Given the description of an element on the screen output the (x, y) to click on. 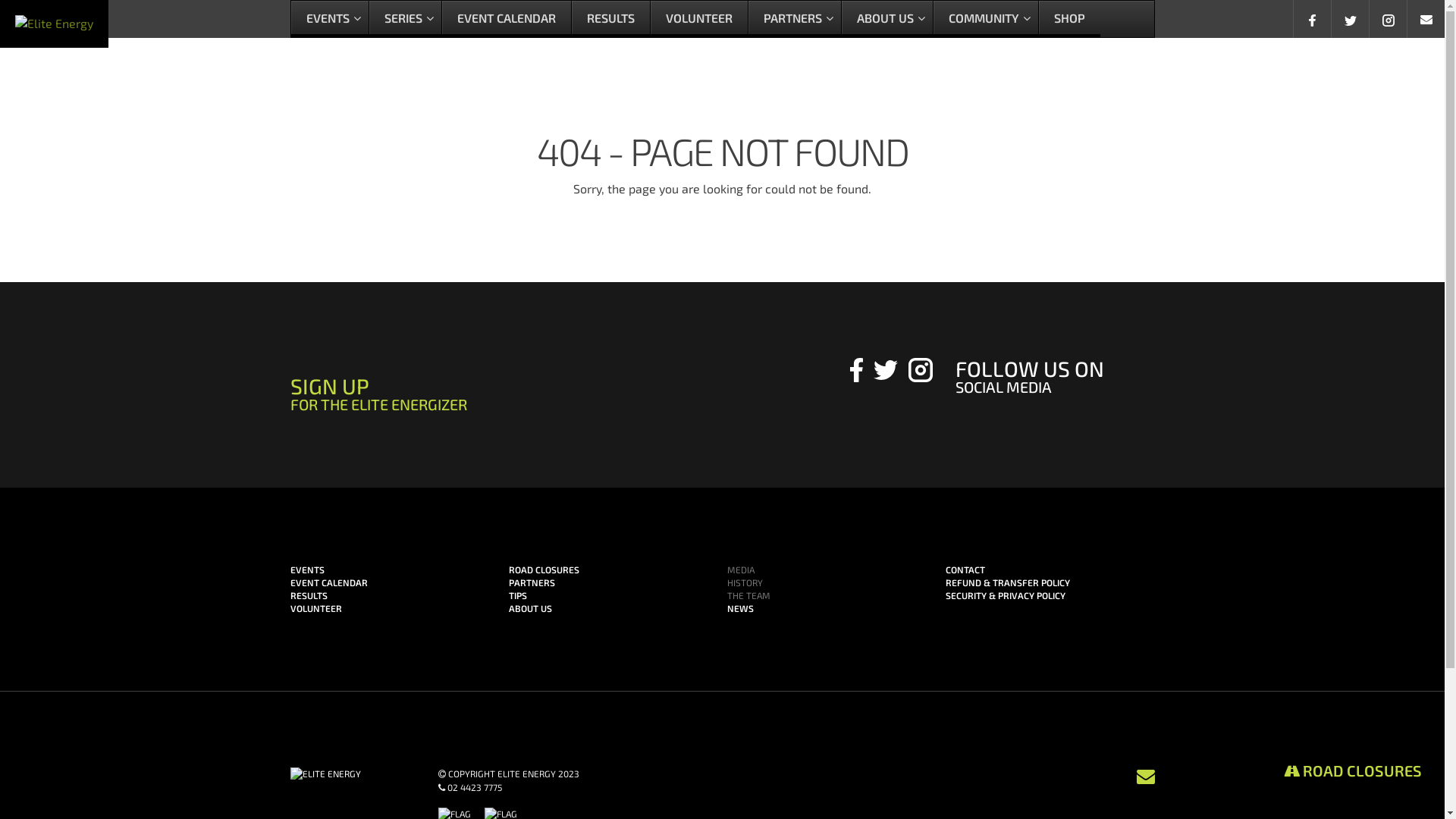
REFUND & TRANSFER POLICY Element type: text (1006, 582)
SIGN UP
FOR THE ELITE ENERGIZER Element type: text (536, 401)
ROAD CLOSURES Element type: text (1352, 770)
RESULTS Element type: text (609, 18)
EVENTS Element type: text (329, 18)
CONTACT Element type: text (964, 569)
PARTNERS Element type: text (531, 582)
ABOUT US Element type: text (529, 607)
COMMUNITY Element type: text (985, 18)
NEWS Element type: text (739, 607)
PARTNERS Element type: text (793, 18)
HISTORY Element type: text (744, 582)
SHOP Element type: text (1068, 18)
SECURITY & PRIVACY POLICY Element type: text (1004, 594)
EVENT CALENDAR Element type: text (328, 582)
TIPS Element type: text (517, 594)
THE TEAM Element type: text (747, 594)
VOLUNTEER Element type: text (697, 18)
VOLUNTEER Element type: text (315, 607)
ROAD CLOSURES Element type: text (543, 569)
ABOUT US Element type: text (885, 18)
SERIES Element type: text (404, 18)
MEDIA Element type: text (739, 569)
RESULTS Element type: text (307, 594)
EVENTS Element type: text (306, 569)
EVENT CALENDAR Element type: text (506, 18)
